Given the description of an element on the screen output the (x, y) to click on. 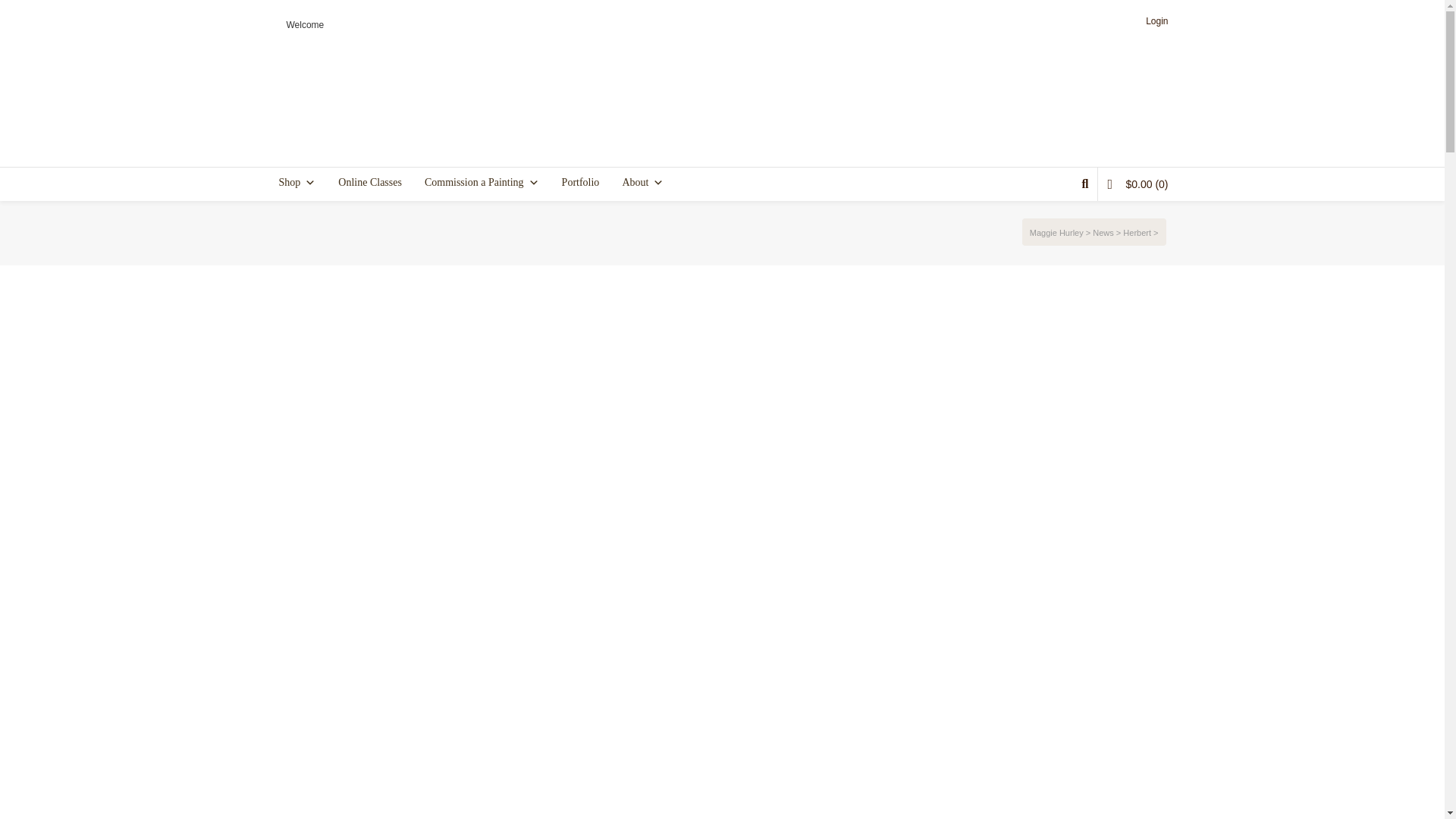
View your shopping bag (1136, 183)
Shop (296, 182)
Login (1160, 20)
Go to News. (1103, 232)
Go to the Herbert category archives. (1136, 232)
Portfolio (580, 182)
About (642, 182)
Online Classes (369, 182)
Commission a Painting (481, 182)
Go to Maggie Hurley . (1057, 232)
